Given the description of an element on the screen output the (x, y) to click on. 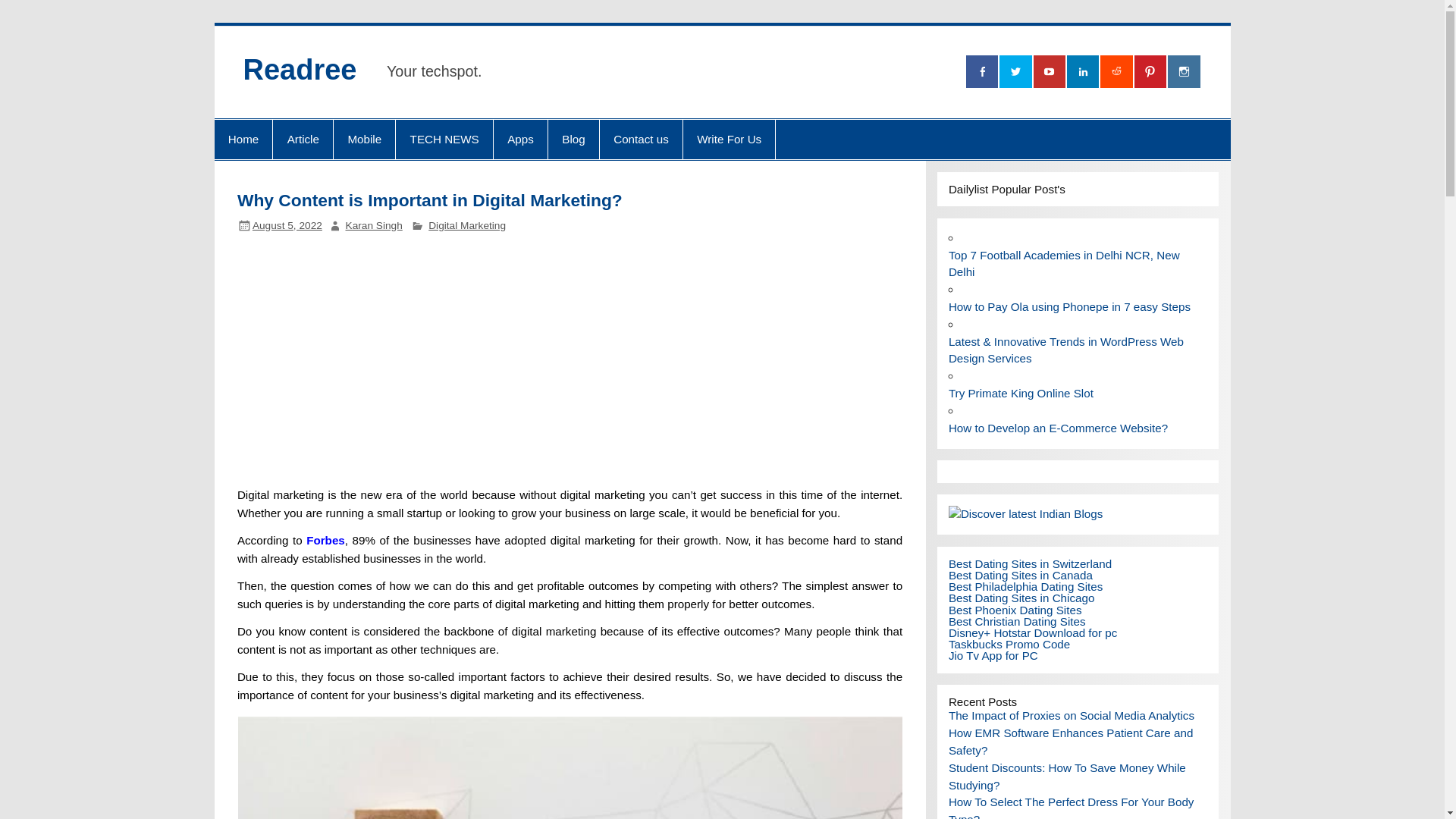
Home (243, 138)
Digital Marketing (466, 225)
Karan Singh (374, 225)
August 5, 2022 (286, 225)
Discover latest Indian Blogs (1025, 513)
Forbes (325, 540)
Apps (520, 138)
10:31 am (286, 225)
Contact us (640, 138)
Blog (573, 138)
